Given the description of an element on the screen output the (x, y) to click on. 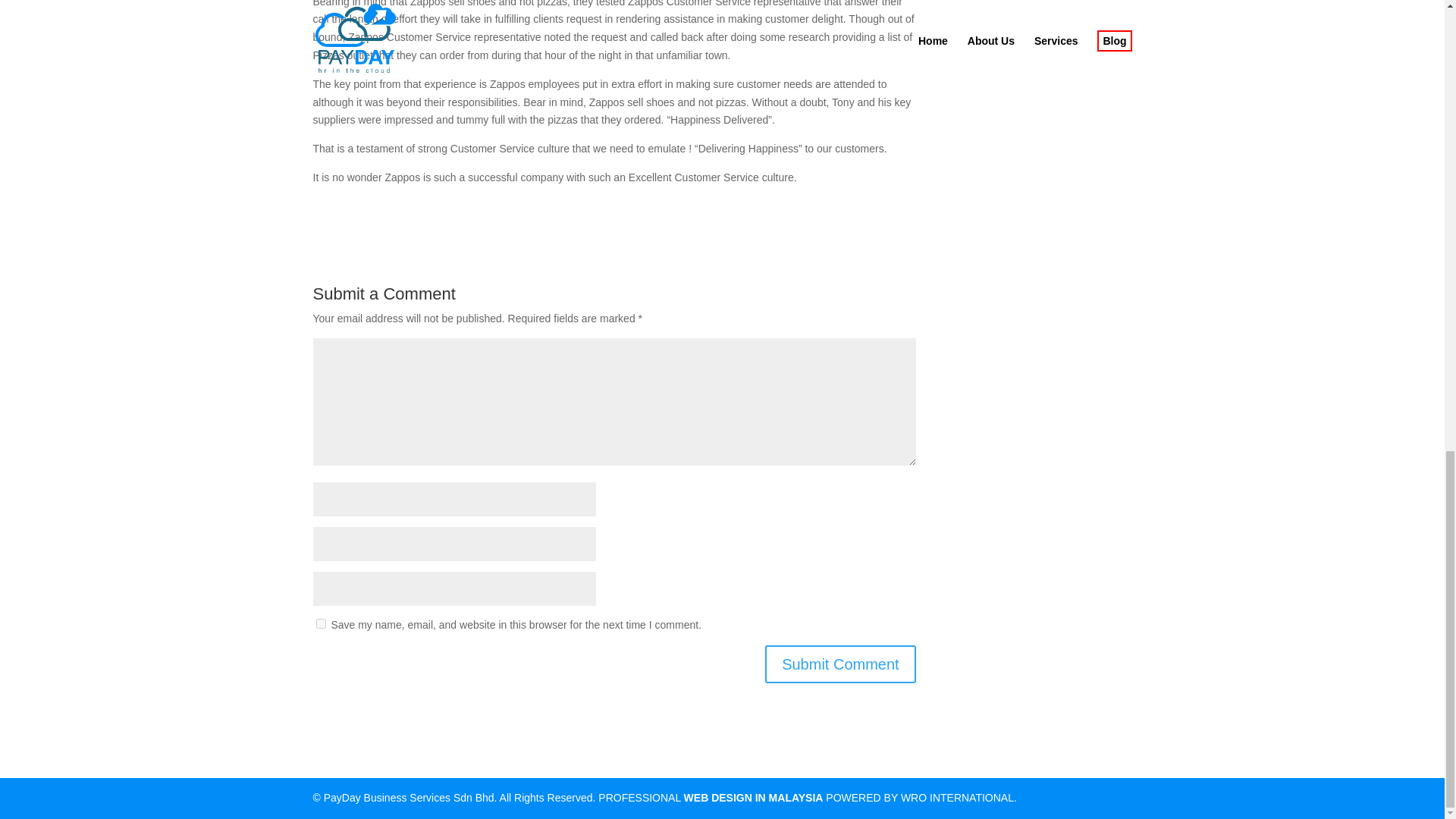
Submit Comment (840, 664)
WEB DESIGN IN MALAYSIA (754, 797)
yes (319, 623)
Submit Comment (840, 664)
